Given the description of an element on the screen output the (x, y) to click on. 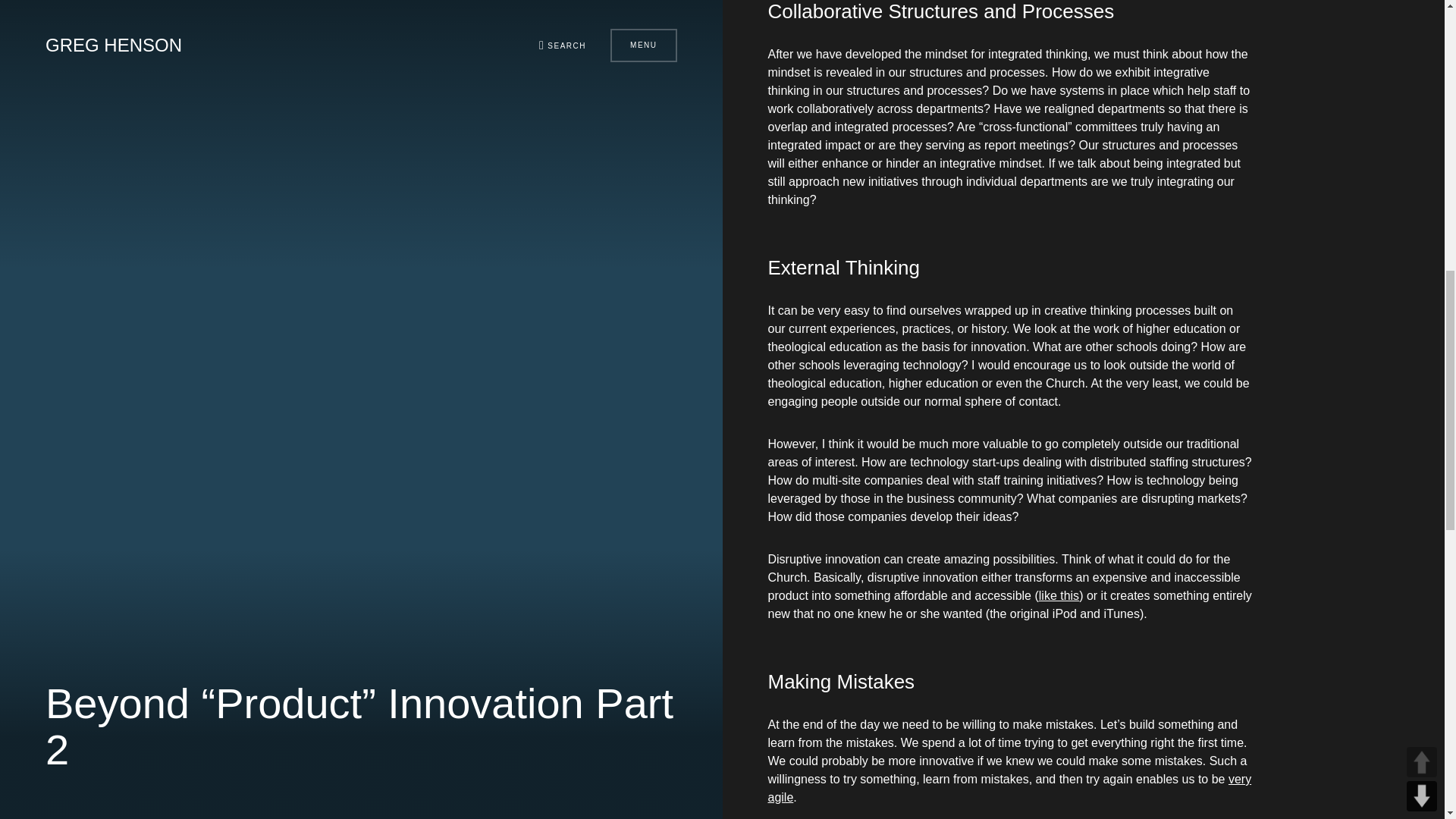
Agile Program Development Part 1: The Need (1008, 788)
like this (1058, 594)
very agile (1008, 788)
